Given the description of an element on the screen output the (x, y) to click on. 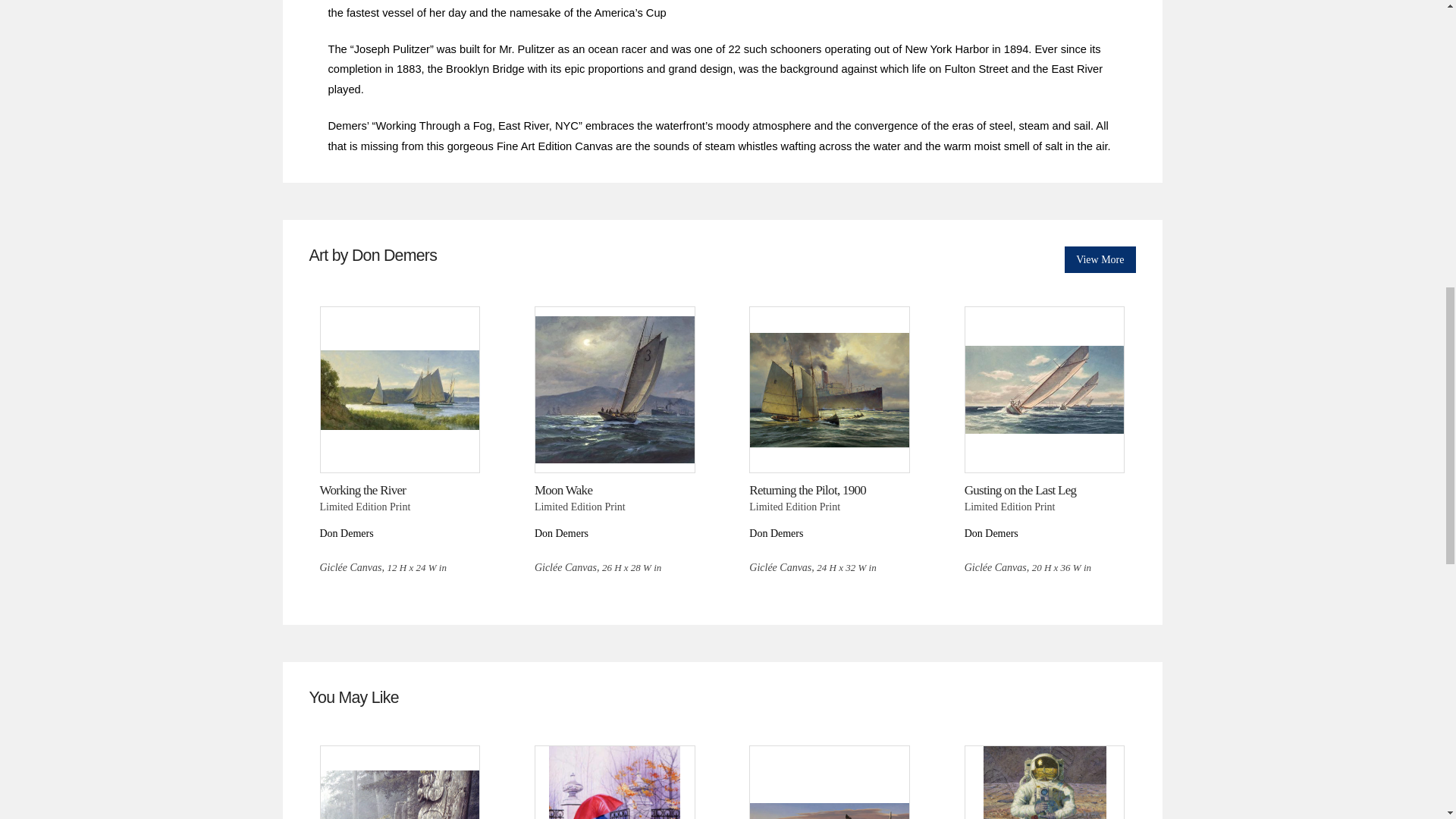
Moon Wake (563, 490)
Working the River (363, 490)
View More (1099, 259)
